Given the description of an element on the screen output the (x, y) to click on. 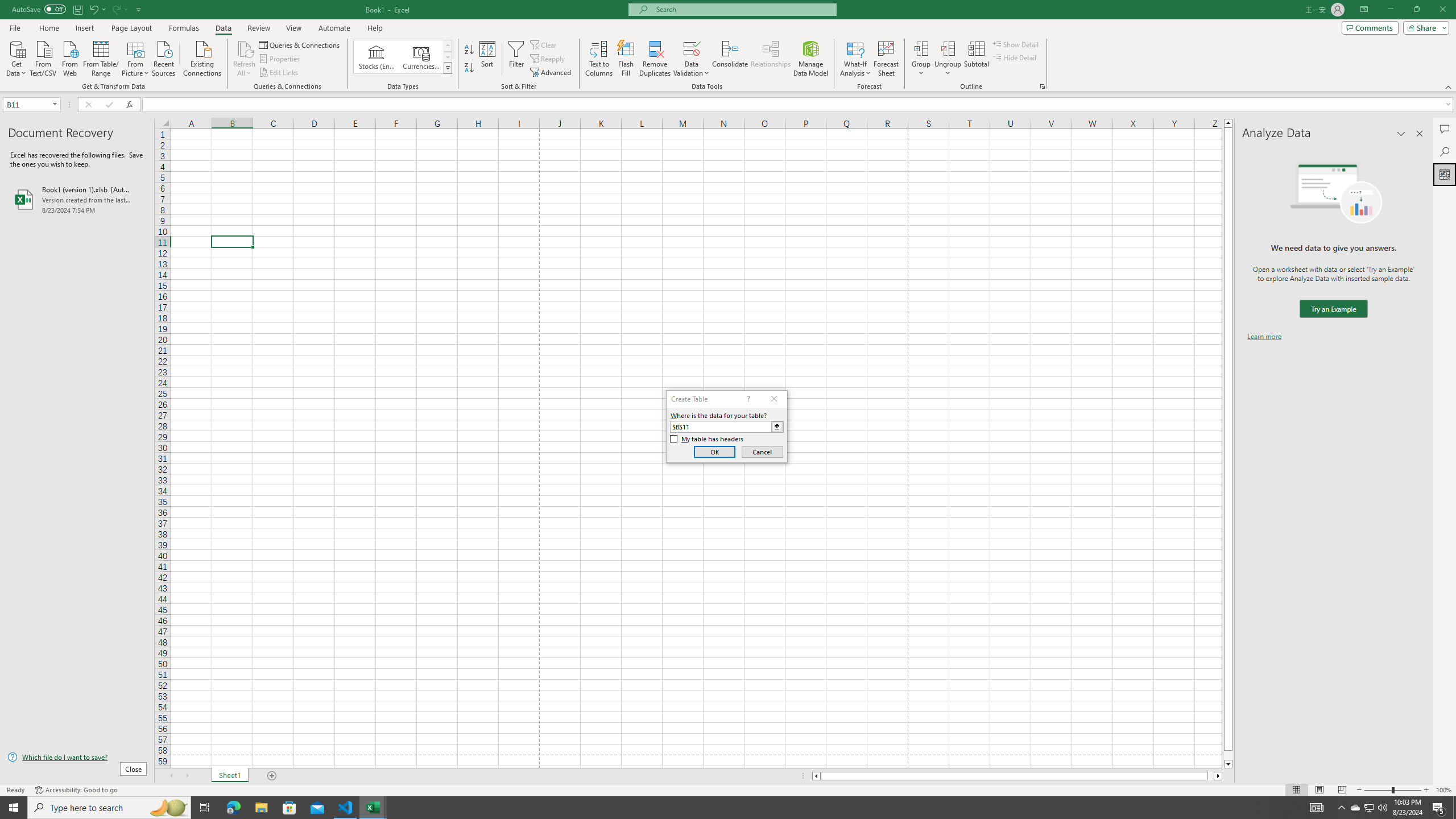
Line up (1228, 122)
Share (1423, 27)
Quick Access Toolbar (77, 9)
Ungroup... (947, 48)
Sort... (487, 58)
Refresh All (244, 58)
Open (54, 104)
Relationships (770, 58)
AutomationID: ConvertToLinkedEntity (403, 56)
Show Detail (1016, 44)
Scroll Left (171, 775)
Hide Detail (1014, 56)
Line down (1228, 764)
